Given the description of an element on the screen output the (x, y) to click on. 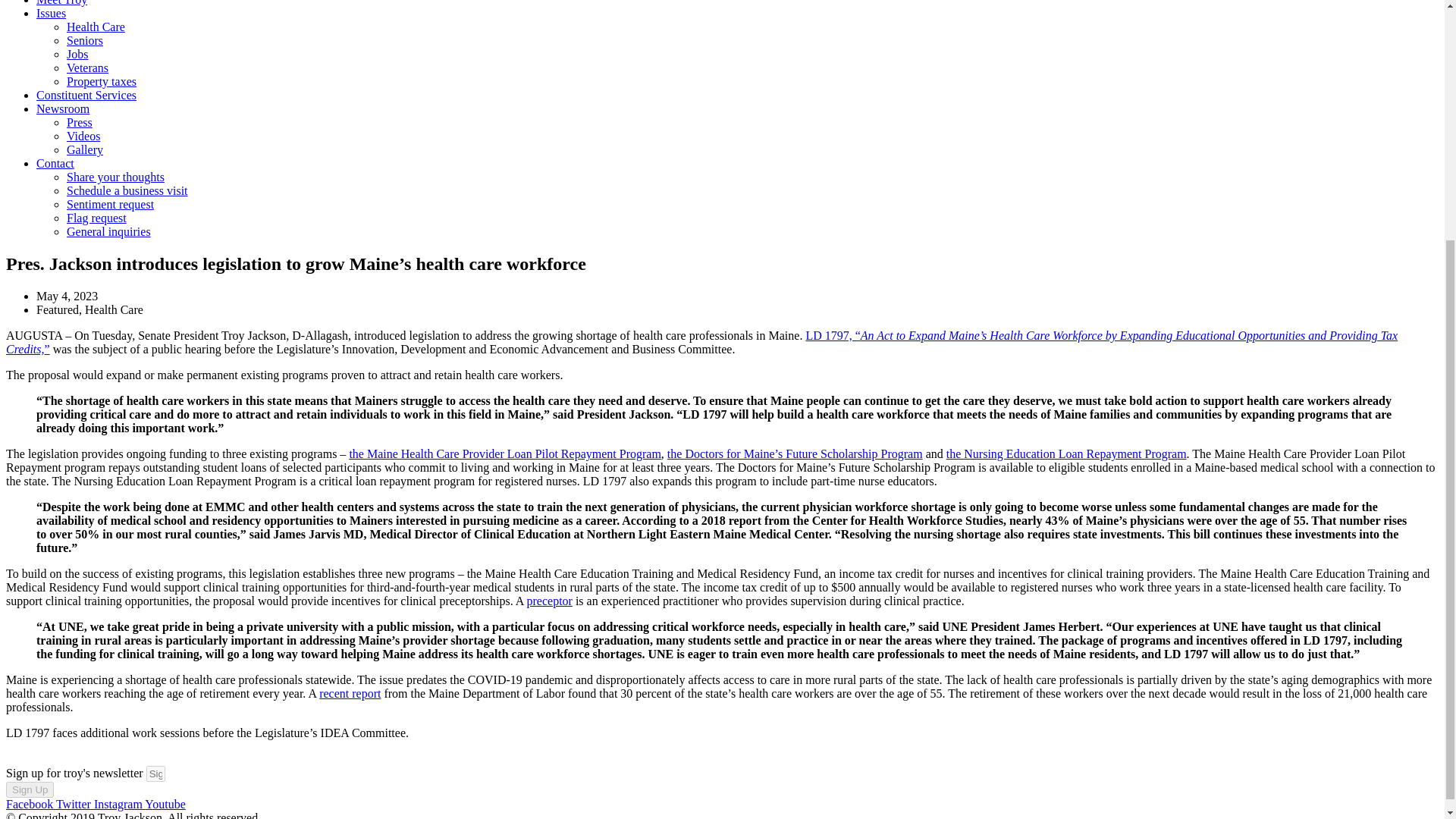
Jobs (76, 53)
Veterans (86, 67)
Contact (55, 163)
Videos (83, 135)
Flag request (96, 217)
Press (79, 122)
Constituent Services (86, 94)
Newsroom (62, 108)
Share your thoughts (115, 176)
Property taxes (101, 81)
Seniors (84, 40)
Schedule a business visit (126, 190)
Meet Troy (61, 2)
the Maine Health Care Provider Loan Pilot Repayment Program (505, 453)
Health Care (95, 26)
